Given the description of an element on the screen output the (x, y) to click on. 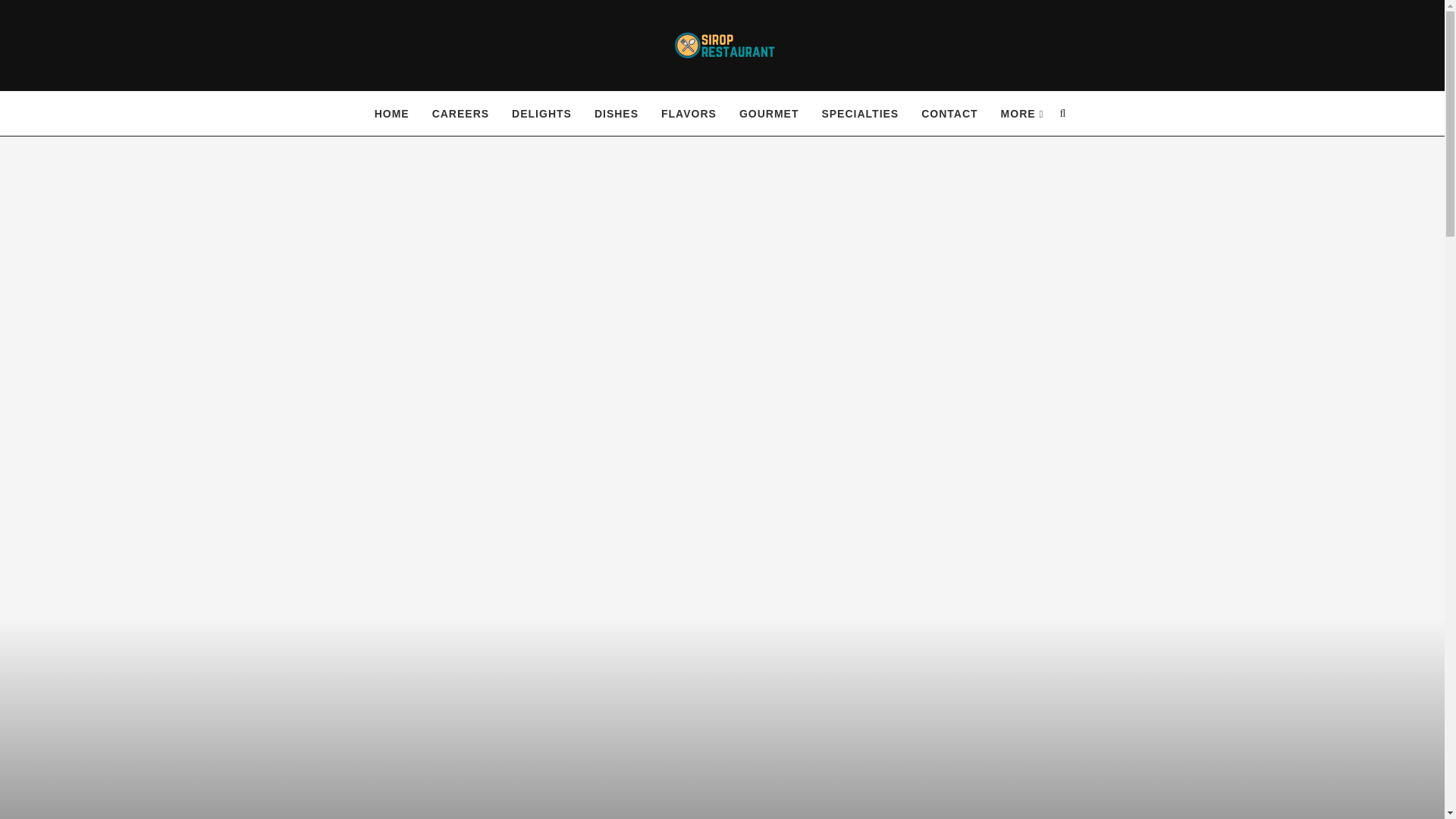
FLAVORS (688, 113)
MORE (1022, 113)
SPECIALTIES (859, 113)
GOURMET (769, 113)
DELIGHTS (542, 113)
DISHES (616, 113)
HOME (391, 113)
CONTACT (948, 113)
CAREERS (460, 113)
